Given the description of an element on the screen output the (x, y) to click on. 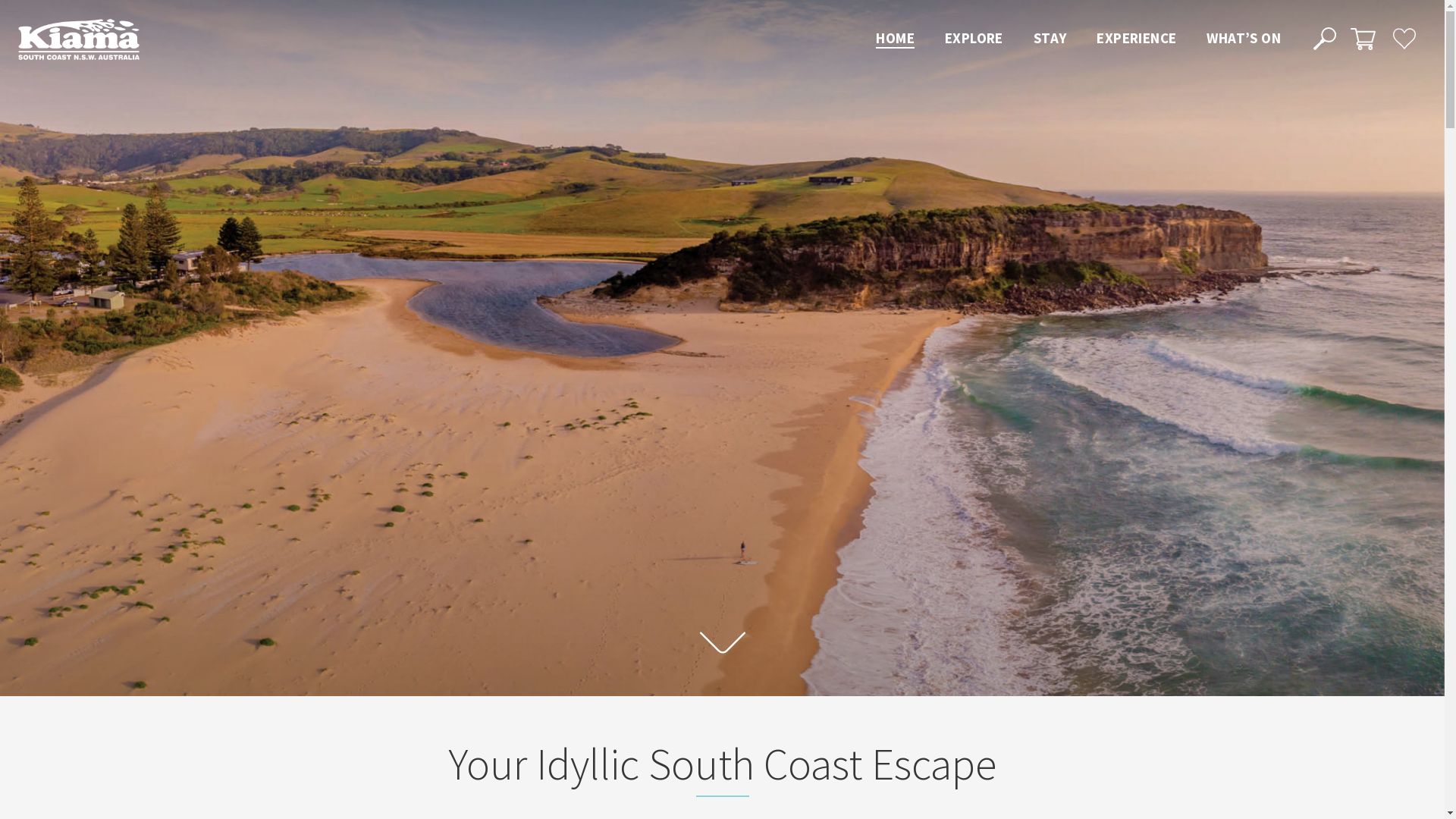
EXPERIENCE Element type: text (1136, 38)
Skip to main content Element type: text (0, 0)
Destination Kiama Home Element type: hover (78, 38)
Open Search Dialog Element type: text (1323, 37)
EXPLORE Element type: text (973, 38)
Go to your Favourites Element type: text (1403, 37)
Scroll to first section Element type: text (721, 643)
STAY Element type: text (1049, 38)
HOME Element type: text (894, 38)
